Given the description of an element on the screen output the (x, y) to click on. 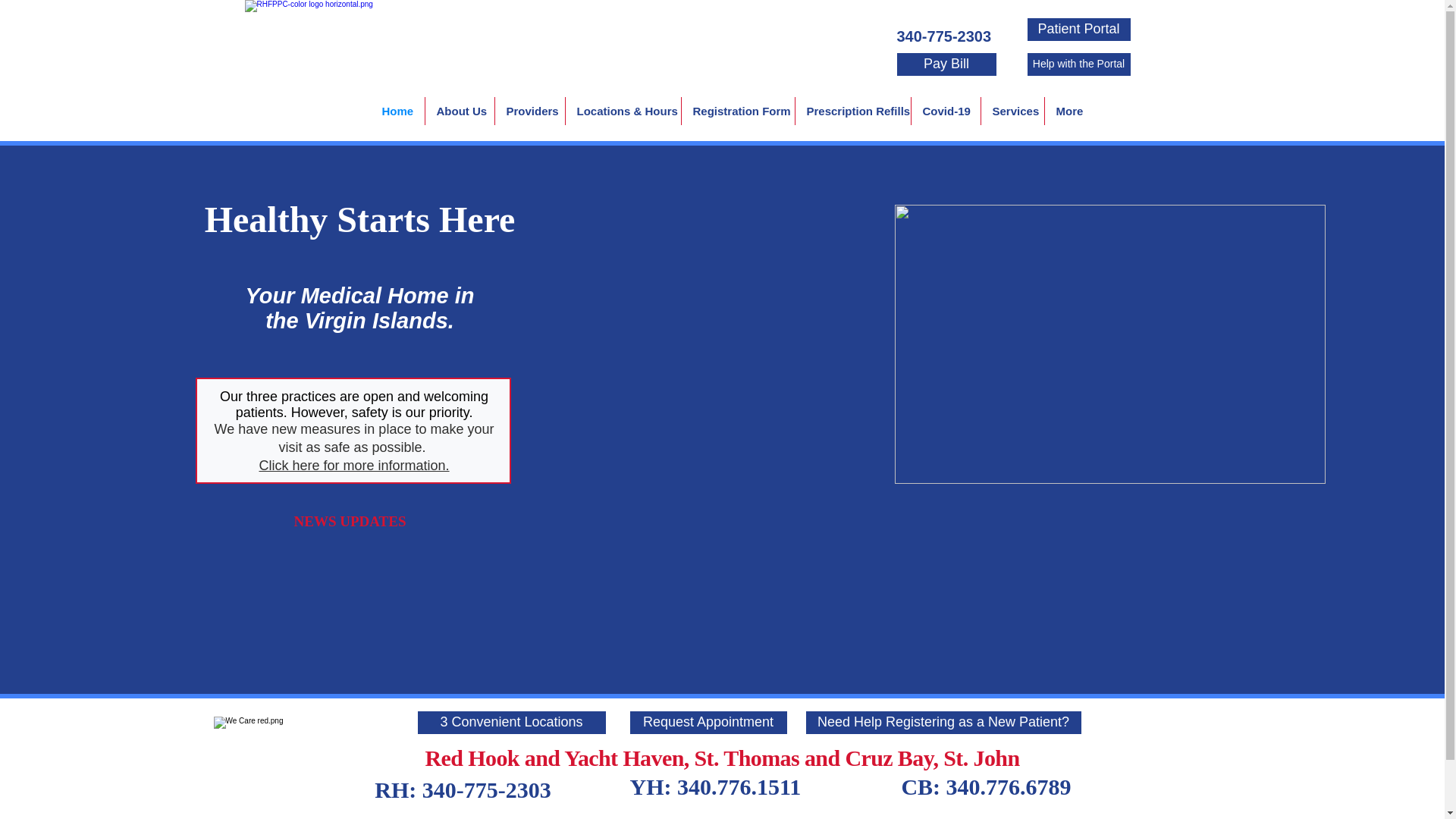
Help with the Portal (1077, 64)
Providers (529, 111)
Pay Bill (945, 64)
Pay Bill Online (39, 7)
Patient Portal (1077, 29)
About Us (459, 111)
Covid-19 (945, 111)
Services (1012, 111)
Pay Bill Online (39, 7)
NEWS UPDATES (351, 520)
